Given the description of an element on the screen output the (x, y) to click on. 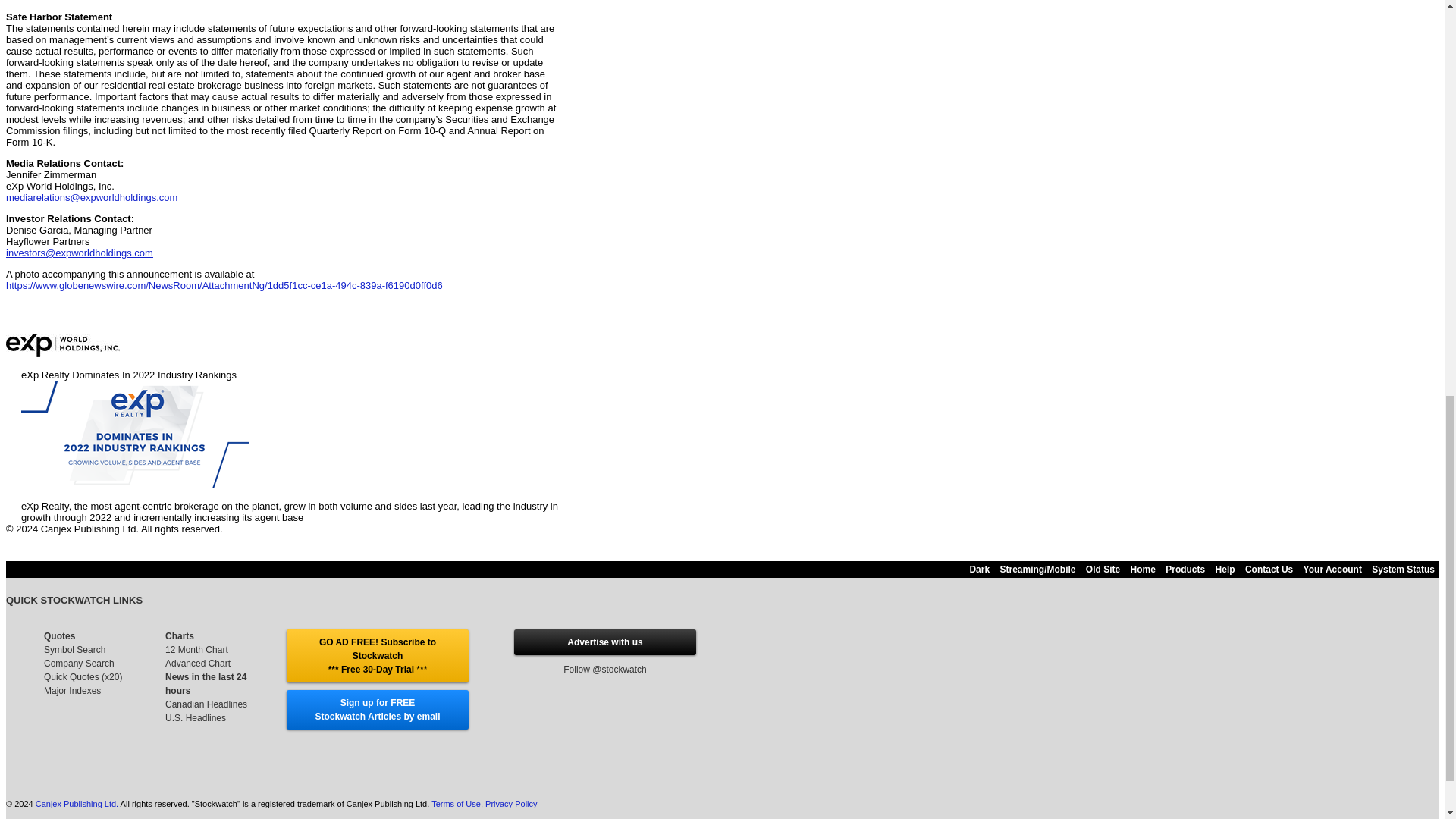
Reach Interested and Active Investors (604, 642)
Start with a FREE 30 day trial (376, 655)
